Given the description of an element on the screen output the (x, y) to click on. 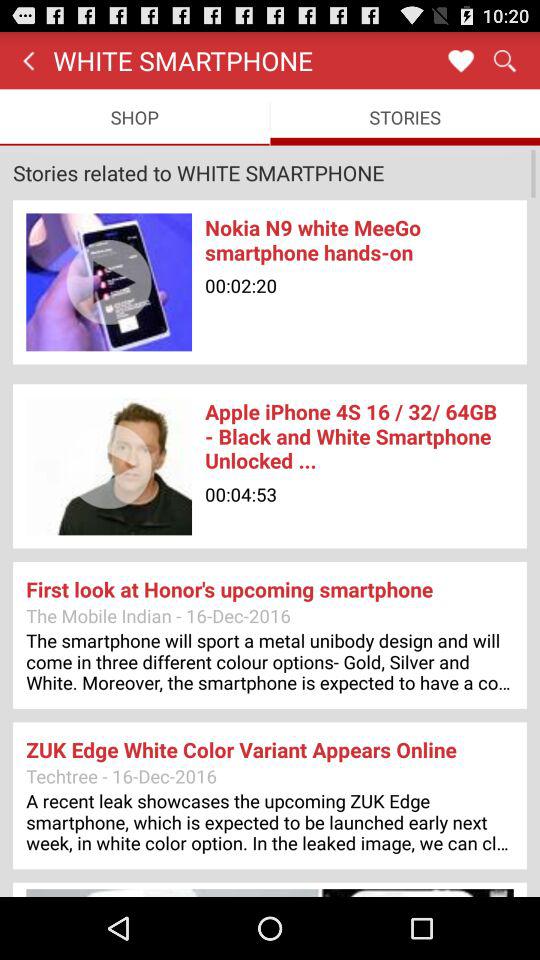
flip until the shop (134, 116)
